Given the description of an element on the screen output the (x, y) to click on. 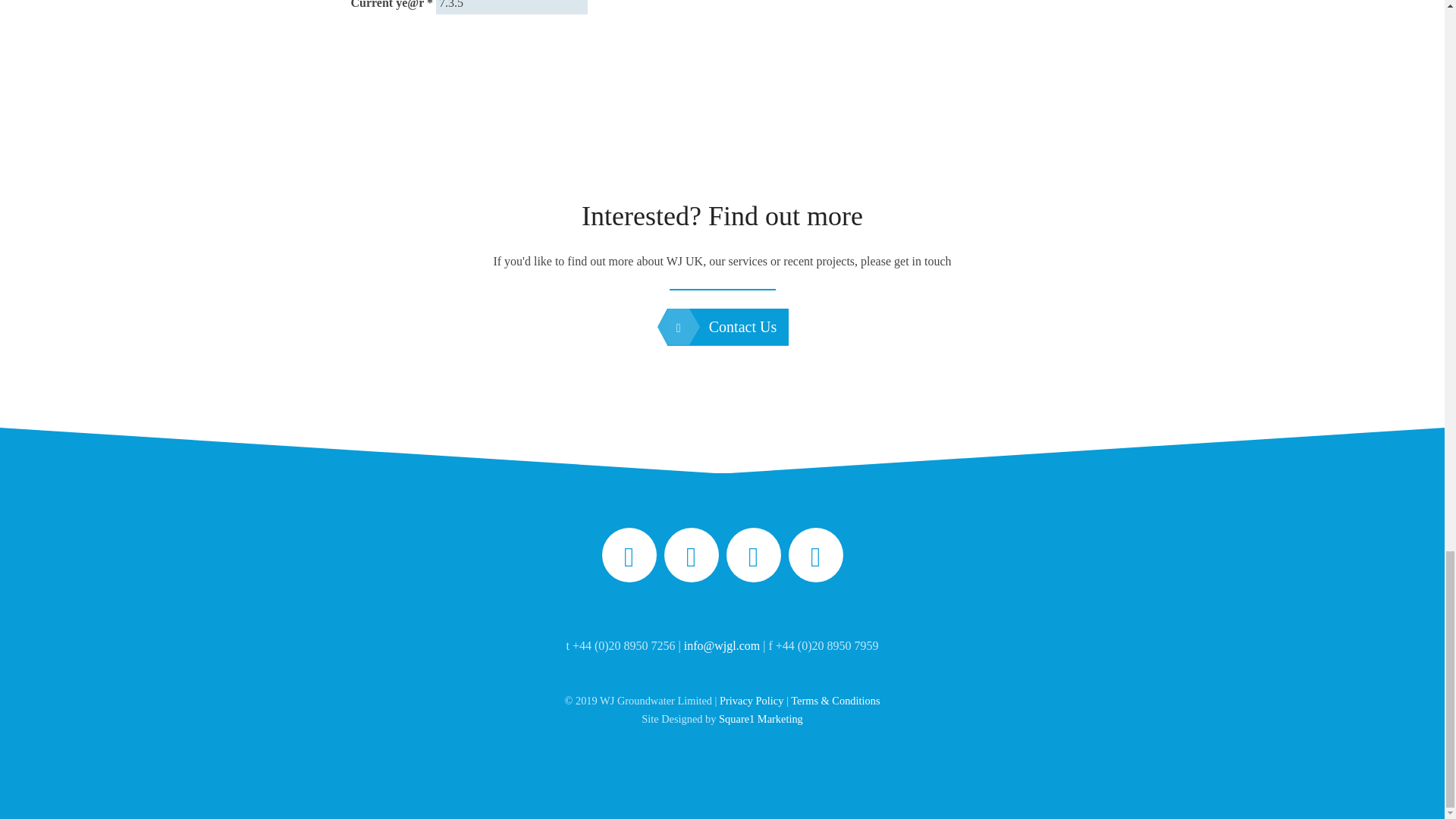
7.3.5 (511, 7)
